Given the description of an element on the screen output the (x, y) to click on. 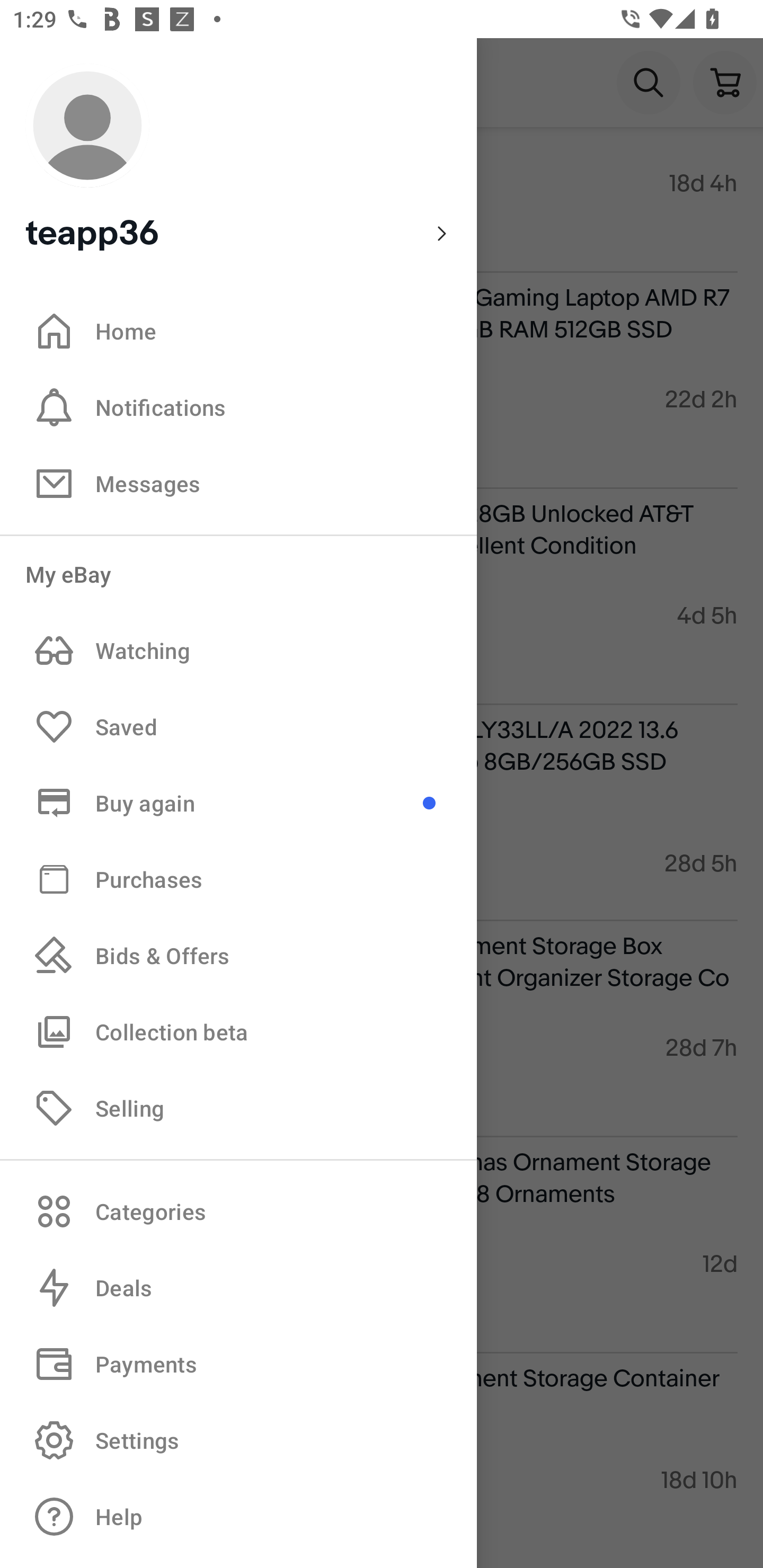
teapp36 (238, 158)
Home (238, 330)
Notifications (238, 406)
Messages (238, 483)
Watching (238, 650)
Saved (238, 726)
Buy again Is new feature (238, 802)
Purchases (238, 878)
Bids & Offers (238, 955)
Collection beta (238, 1031)
Selling (238, 1107)
Categories (238, 1210)
Deals (238, 1287)
Payments (238, 1363)
Settings (238, 1439)
Help (238, 1516)
